Given the description of an element on the screen output the (x, y) to click on. 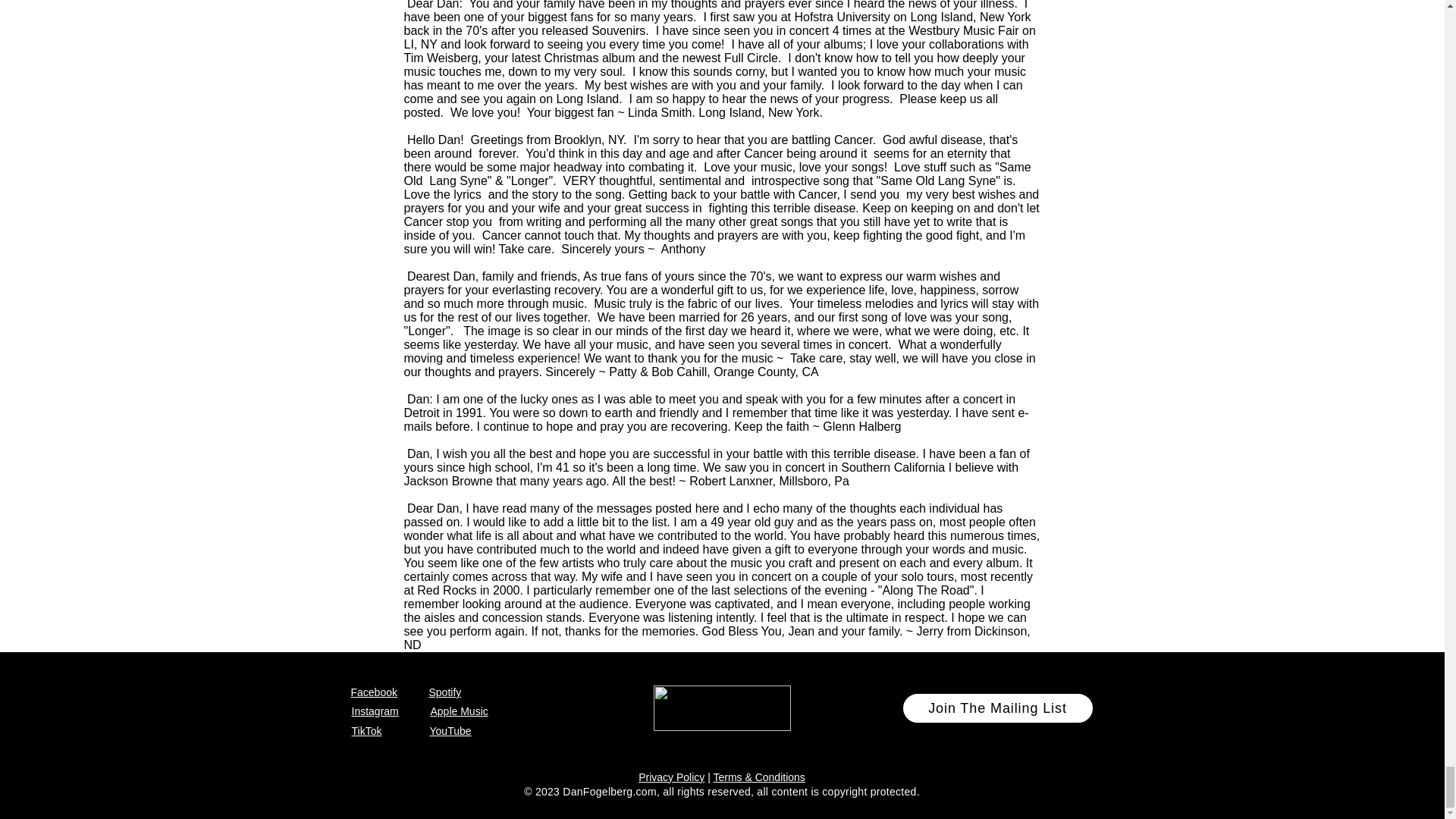
Facebook (373, 692)
Join The Mailing List (997, 707)
Spotify (445, 692)
Apple Music (458, 711)
TikTok (366, 730)
Privacy Policy (671, 776)
Instagram (375, 711)
YouTube (449, 730)
